Given the description of an element on the screen output the (x, y) to click on. 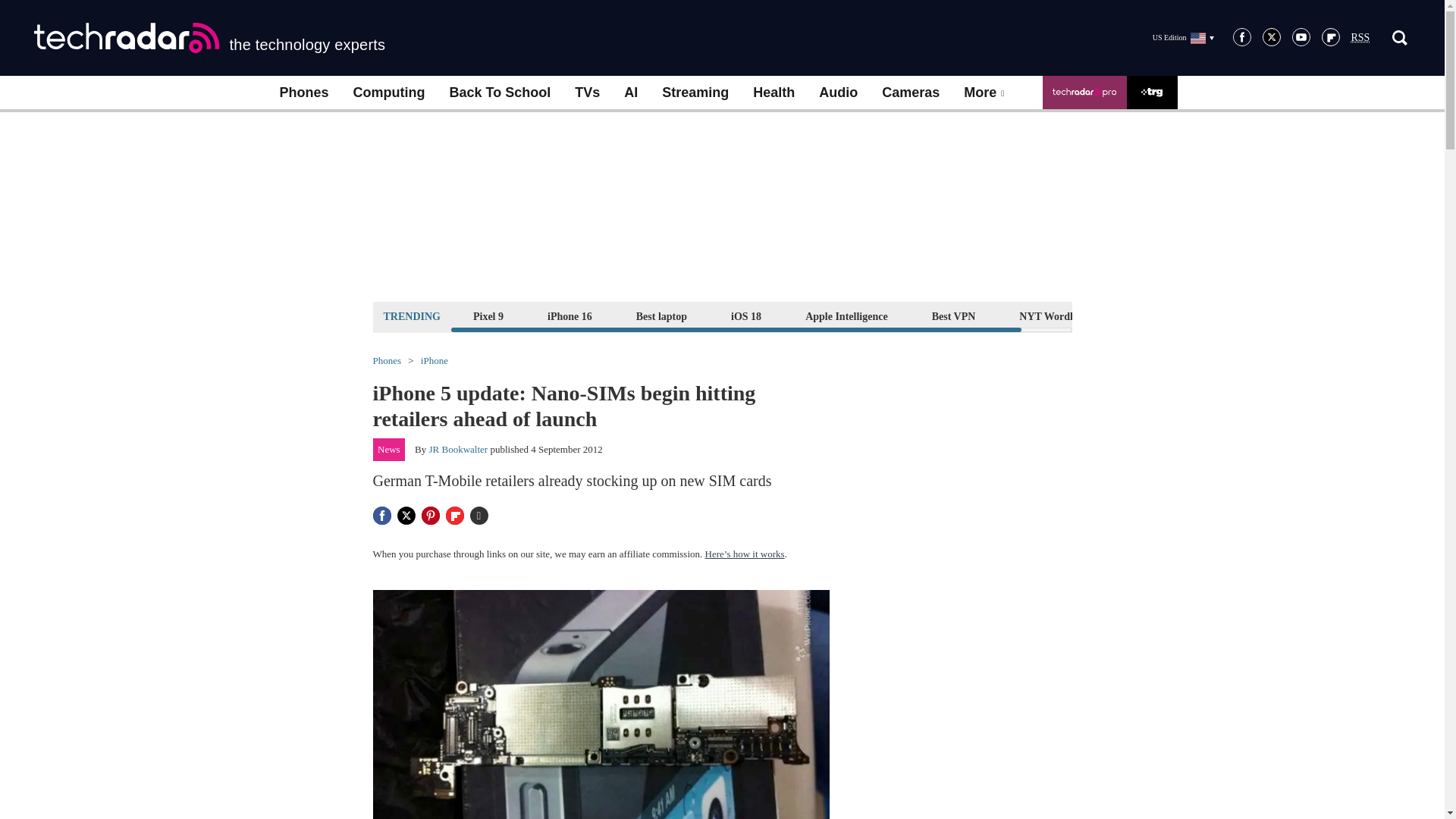
Computing (389, 92)
Audio (837, 92)
US Edition (1182, 37)
Health (773, 92)
the technology experts (209, 38)
Phones (303, 92)
TVs (586, 92)
Cameras (910, 92)
Really Simple Syndication (1360, 37)
Streaming (695, 92)
